Given the description of an element on the screen output the (x, y) to click on. 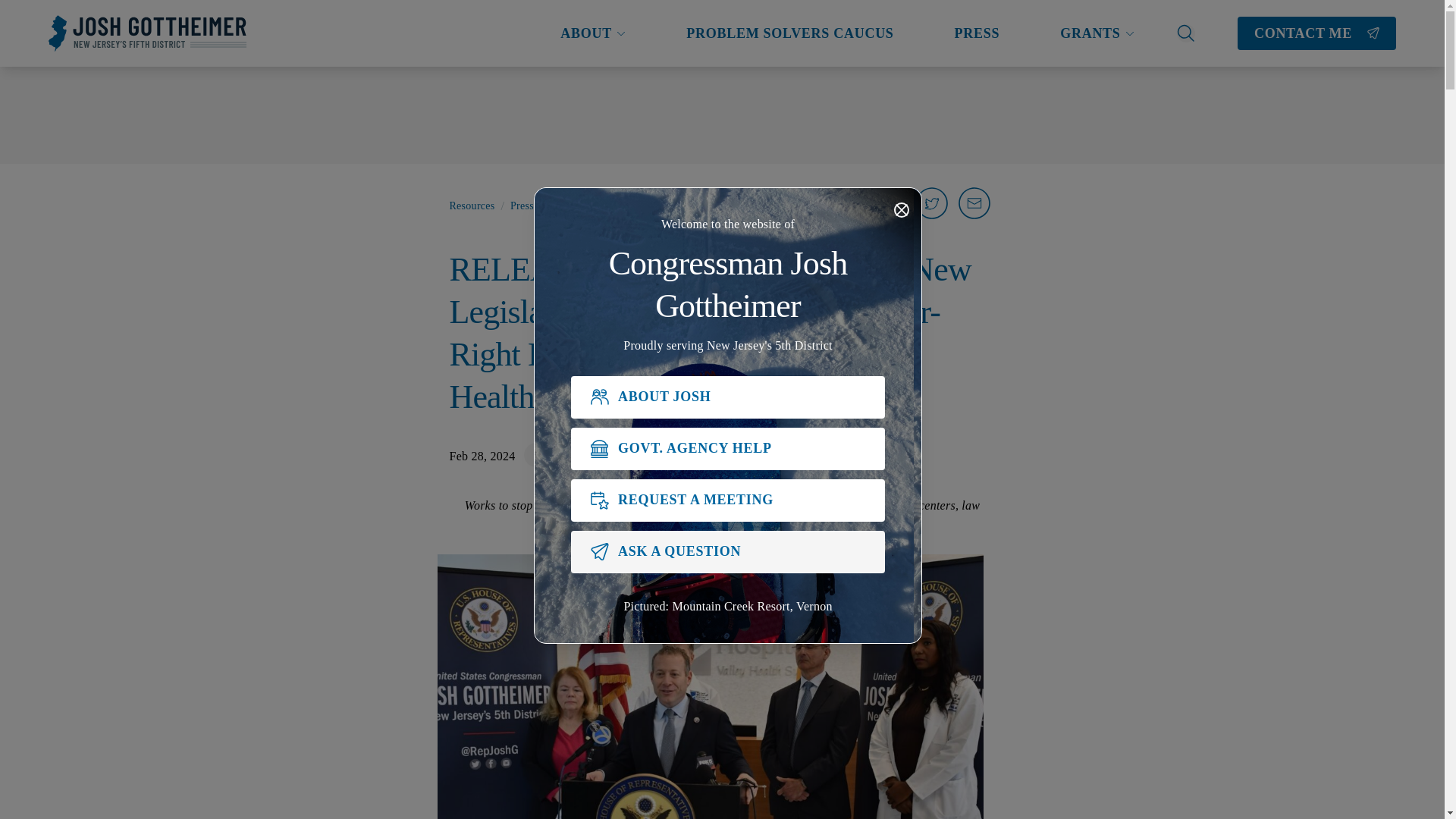
REQUEST A MEETING (727, 500)
ABOUT (592, 33)
GOVT. AGENCY HELP (727, 448)
Press (522, 206)
Press (556, 456)
PROBLEM SOLVERS CAUCUS (789, 33)
CONTACT ME (1316, 33)
ABOUT JOSH (727, 396)
PRESS (977, 33)
CONTACT ME (1316, 32)
GRANTS (1096, 33)
ASK A QUESTION (727, 551)
Resources (471, 206)
